Given the description of an element on the screen output the (x, y) to click on. 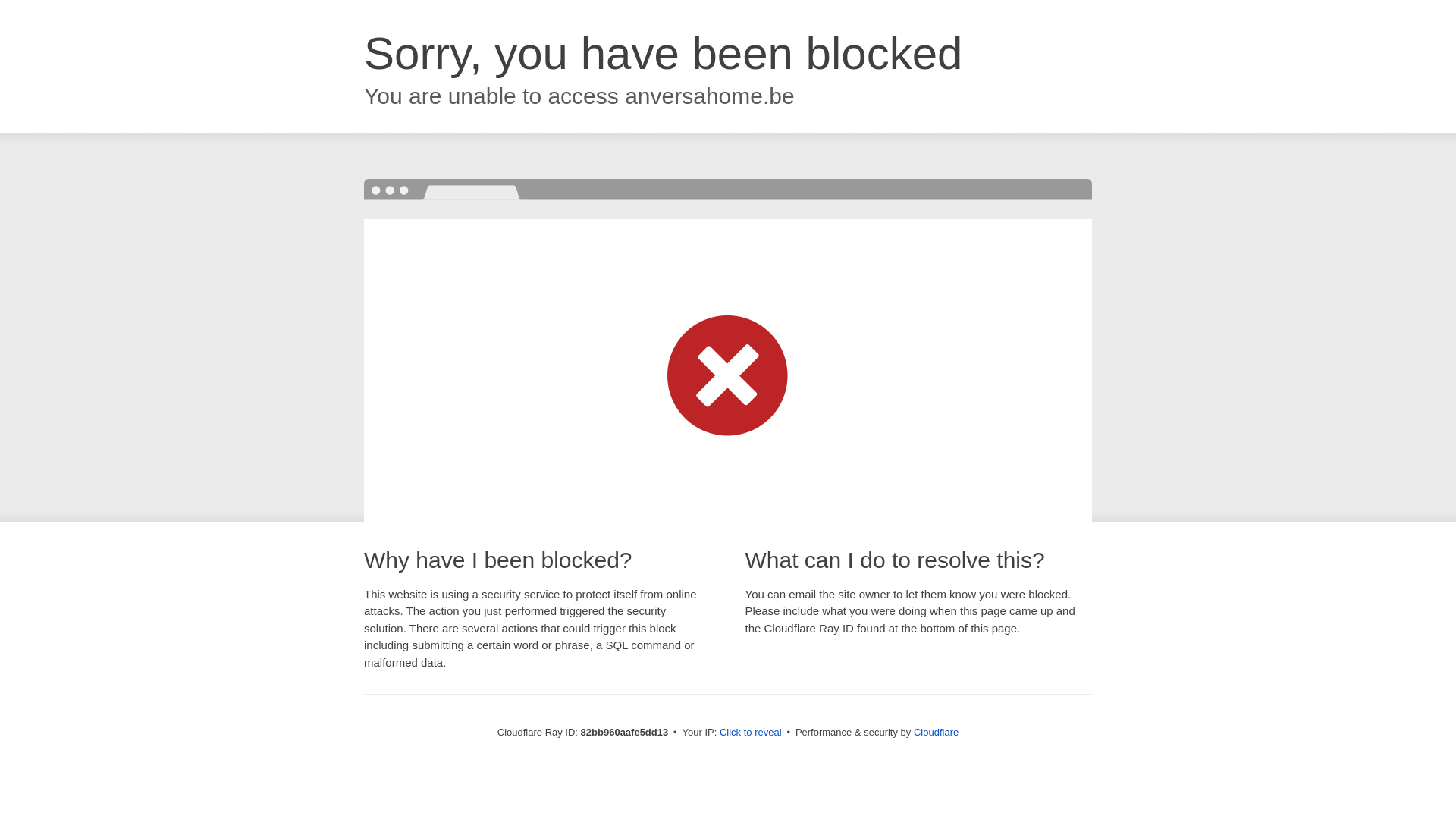
Click to reveal Element type: text (750, 732)
Cloudflare Element type: text (935, 731)
